Given the description of an element on the screen output the (x, y) to click on. 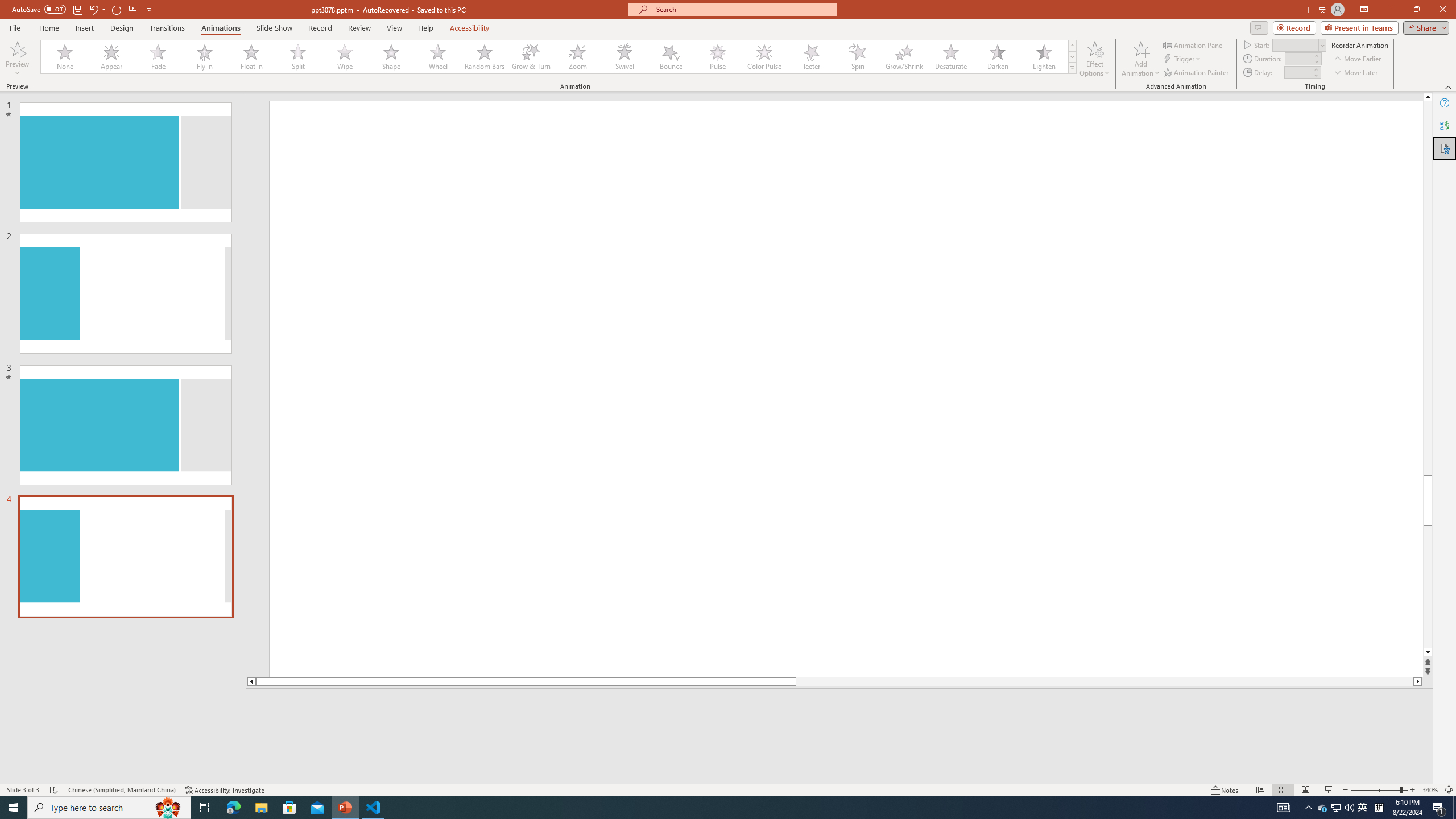
Move Earlier (1357, 58)
Desaturate (950, 56)
Animation Pane (1193, 44)
Darken (997, 56)
